Given the description of an element on the screen output the (x, y) to click on. 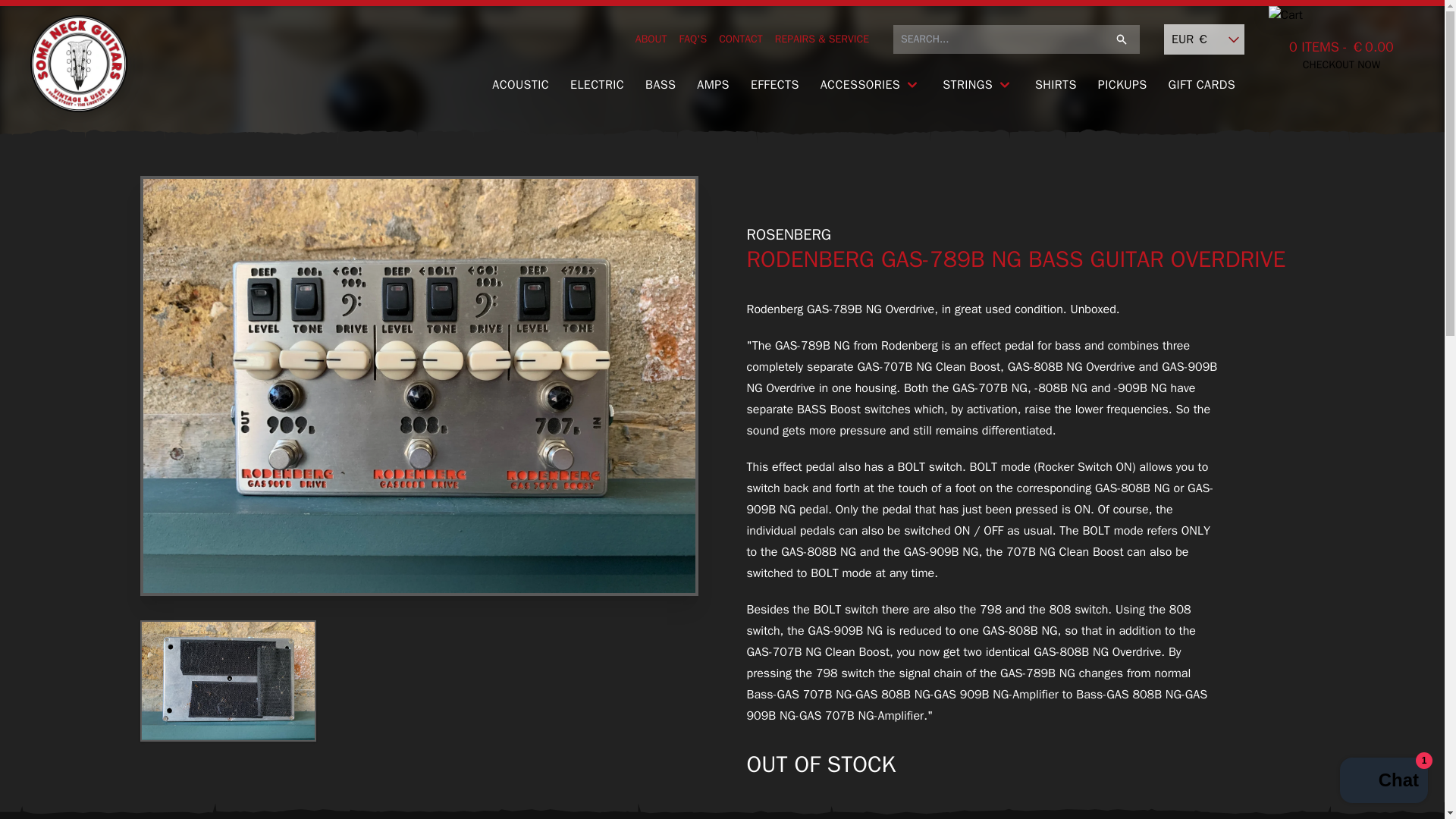
GIFT CARDS (1201, 84)
BASS (660, 84)
CONTACT (740, 38)
ACCESSORIES (870, 84)
EFFECTS (774, 84)
FAQ'S (693, 38)
AMPS (712, 84)
Shopify online store chat (1383, 781)
ACOUSTIC (520, 84)
SHIRTS (1056, 84)
PICKUPS (1122, 84)
ABOUT (650, 38)
Search (1120, 39)
STRINGS (978, 84)
ELECTRIC (596, 84)
